Given the description of an element on the screen output the (x, y) to click on. 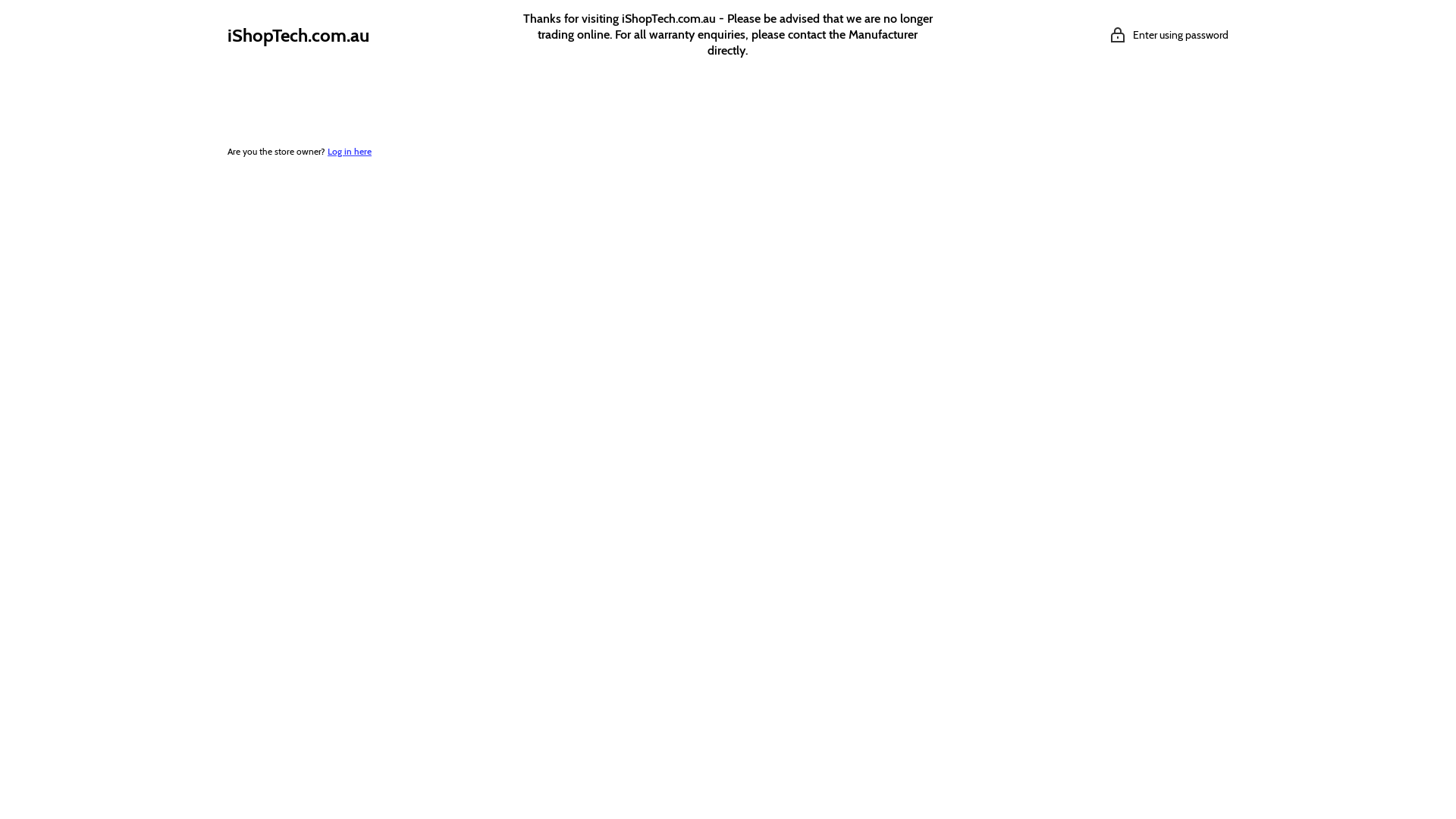
Log in here Element type: text (349, 150)
Enter using password Element type: text (1169, 34)
